Given the description of an element on the screen output the (x, y) to click on. 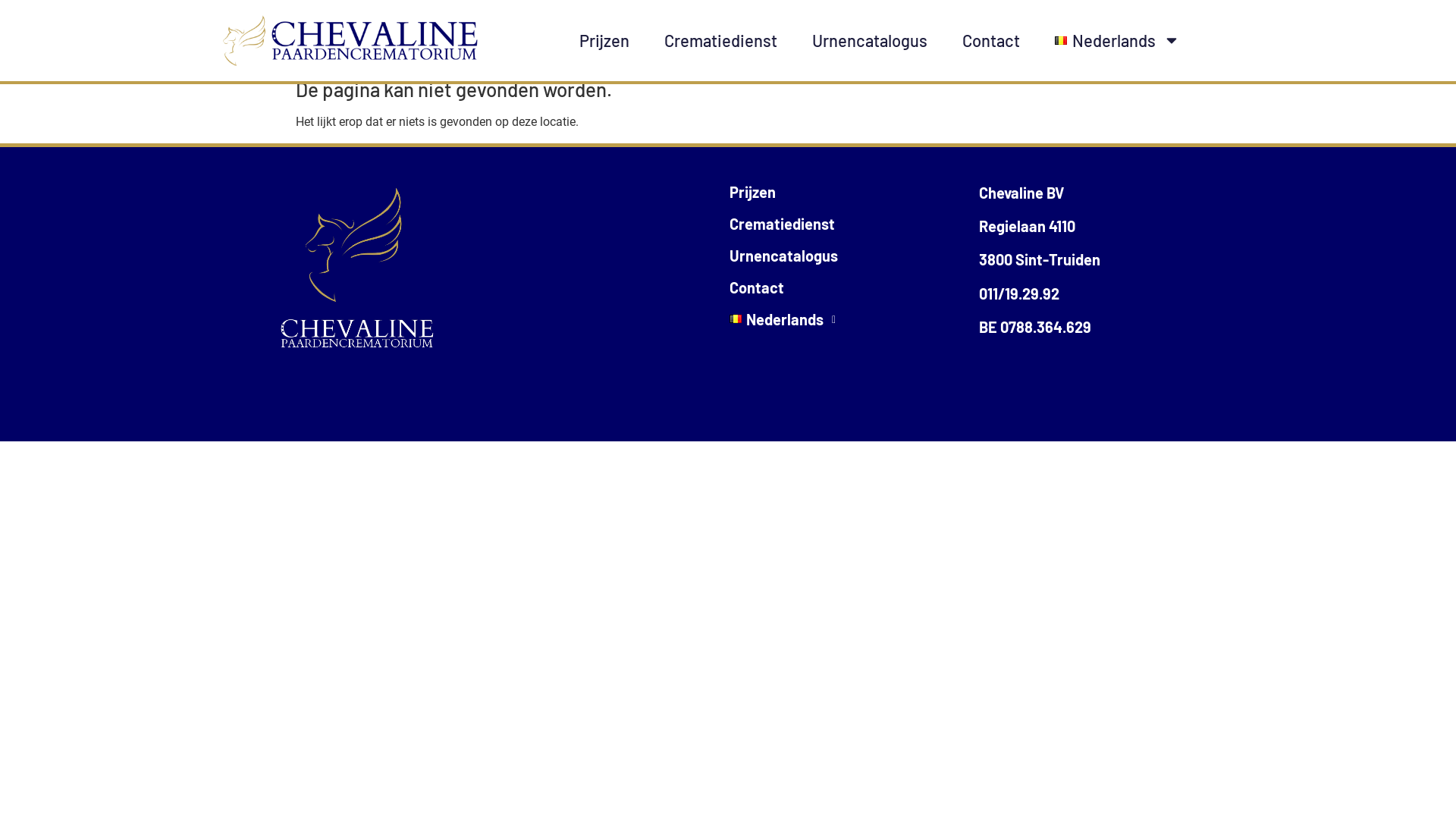
Contact Element type: text (853, 287)
Urnencatalogus Element type: text (853, 255)
Urnencatalogus Element type: text (869, 39)
Prijzen Element type: text (853, 191)
Contact Element type: text (991, 39)
Crematiedienst Element type: text (853, 223)
Prijzen Element type: text (604, 39)
Crematiedienst Element type: text (720, 39)
Nederlands Element type: text (853, 319)
Nederlands Element type: text (1117, 39)
